Given the description of an element on the screen output the (x, y) to click on. 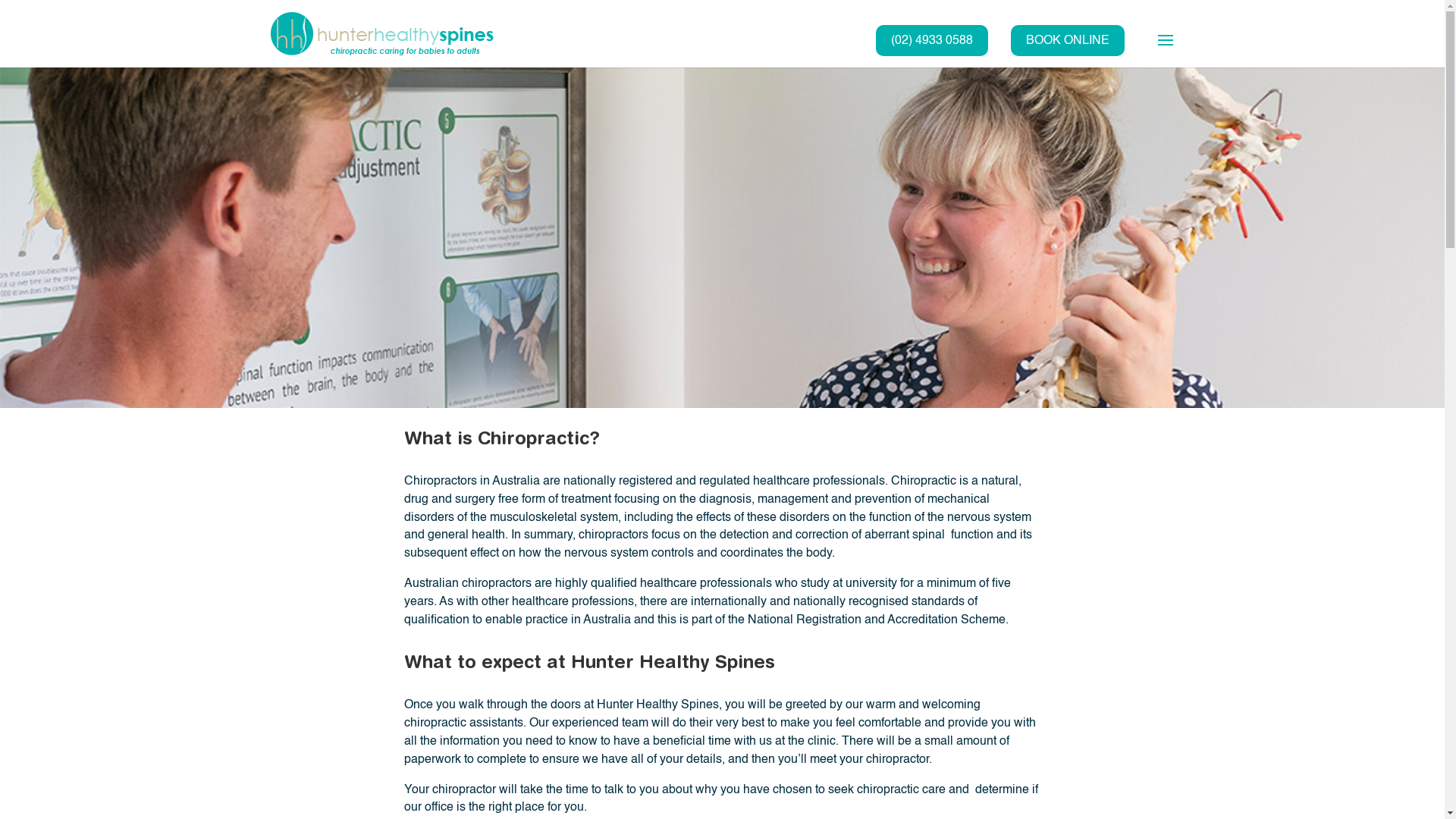
BOOK ONLINE Element type: text (1066, 40)
(02) 4933 0588 Element type: text (931, 40)
BOOK ONLINE Element type: text (1066, 40)
(02) 4933 0588 Element type: text (931, 40)
